Given the description of an element on the screen output the (x, y) to click on. 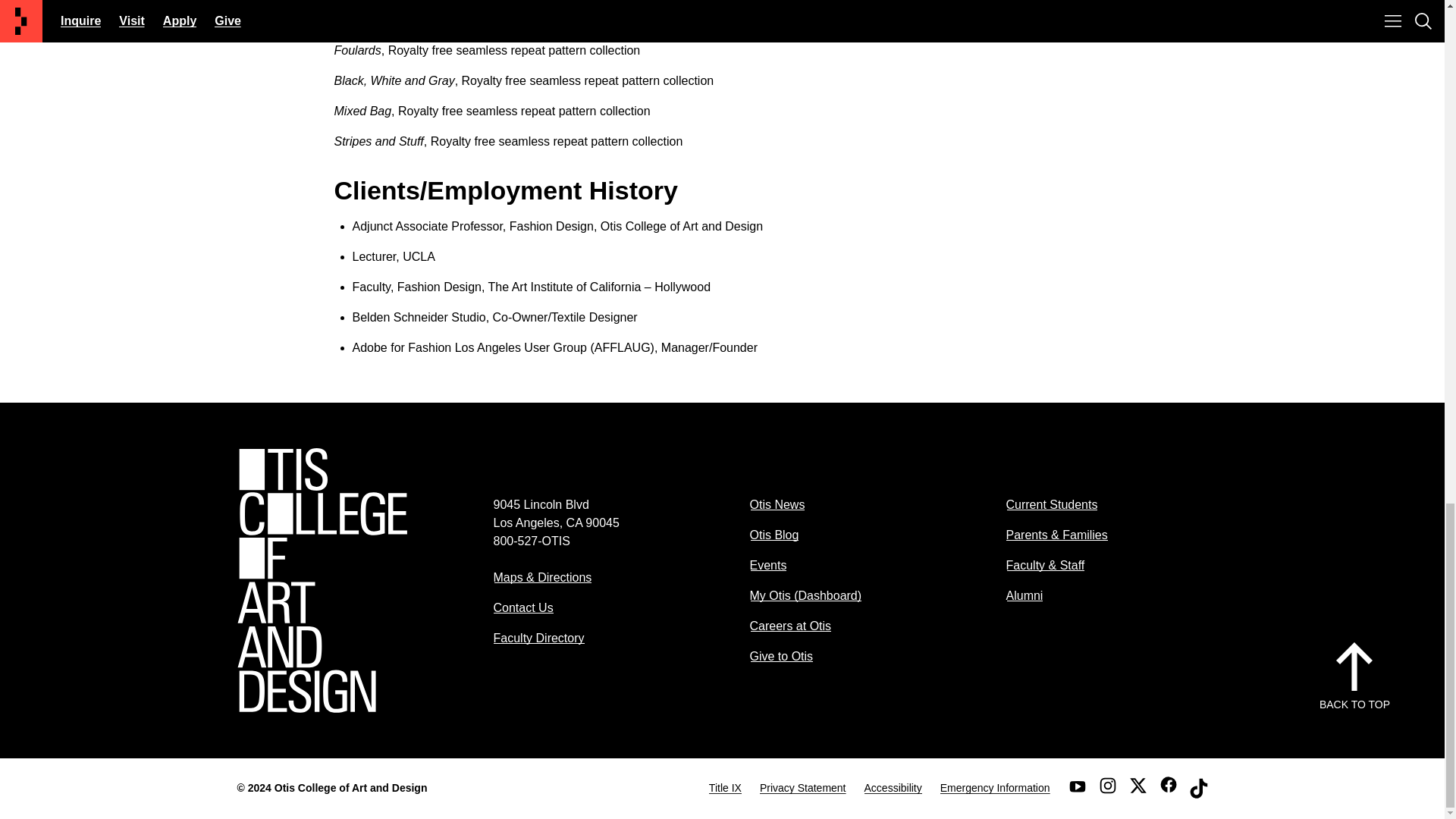
Contact Us (523, 607)
Give to Otis (780, 656)
Careers at Otis (790, 625)
Faculty Directory (538, 637)
Otis Blog (773, 534)
Otis News (777, 504)
Events (767, 564)
